Given the description of an element on the screen output the (x, y) to click on. 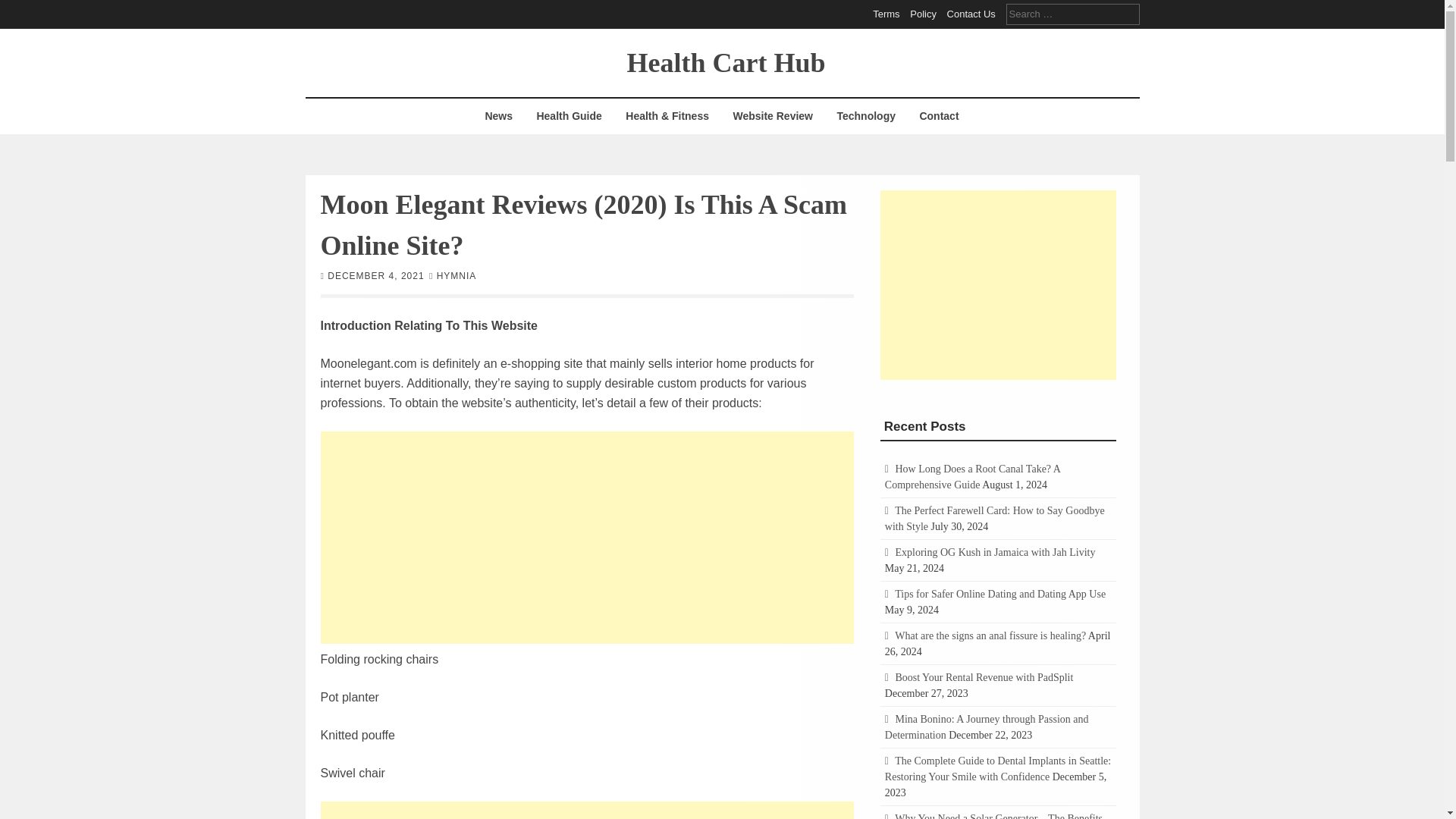
Policy (923, 13)
Mina Bonino: A Journey through Passion and Determination (987, 727)
Contact Us (971, 13)
What are the signs an anal fissure is healing? (990, 635)
Tips for Safer Online Dating and Dating App Use (1000, 593)
Website Review (772, 116)
Advertisement (998, 284)
Technology (866, 116)
The Perfect Farewell Card: How to Say Goodbye with Style (995, 518)
Advertisement (586, 809)
DECEMBER 4, 2021 (375, 275)
How Long Does a Root Canal Take? A Comprehensive Guide (972, 476)
Terms (885, 13)
Search (23, 9)
